Given the description of an element on the screen output the (x, y) to click on. 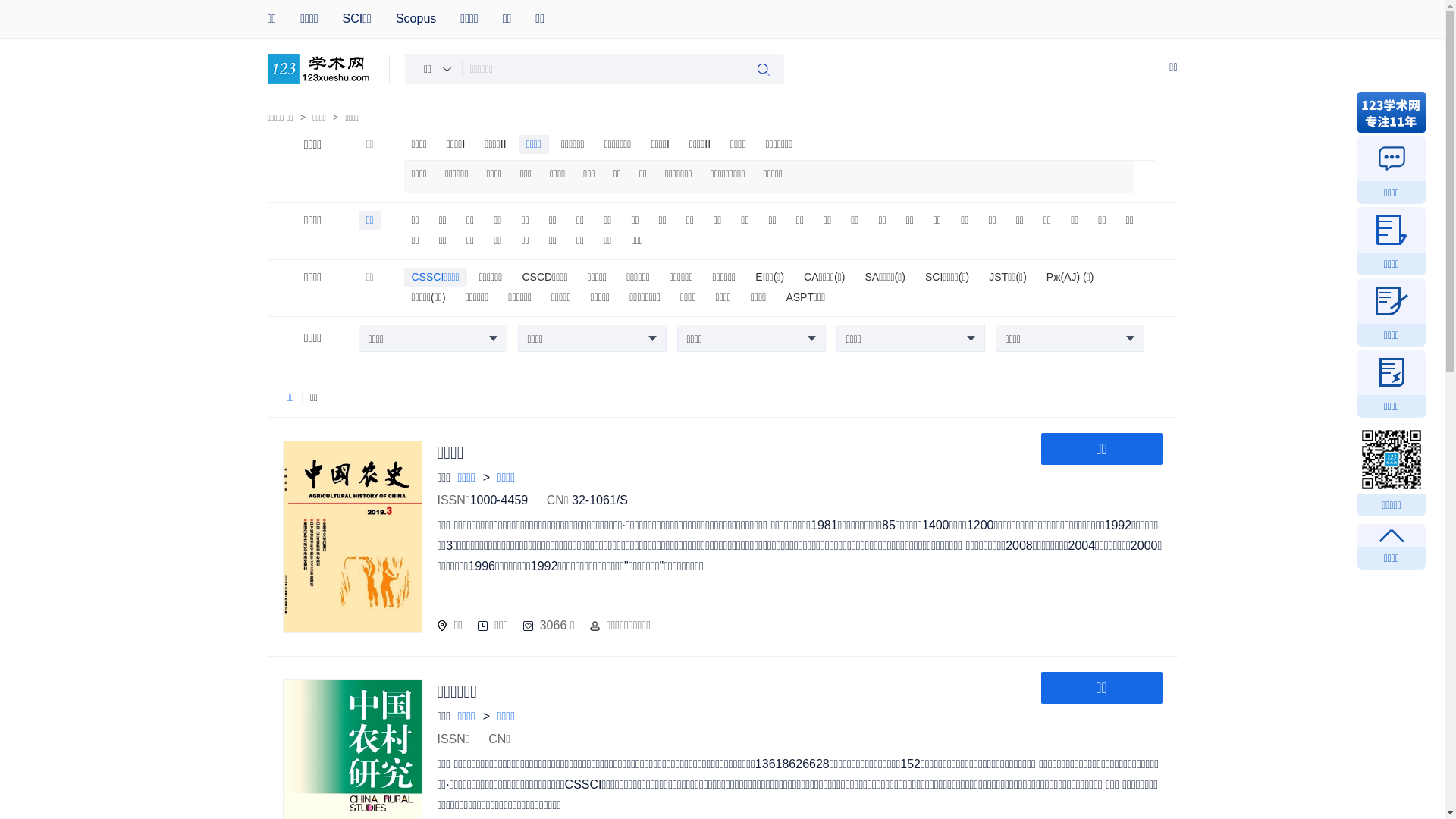
Scopus Element type: text (427, 18)
